Given the description of an element on the screen output the (x, y) to click on. 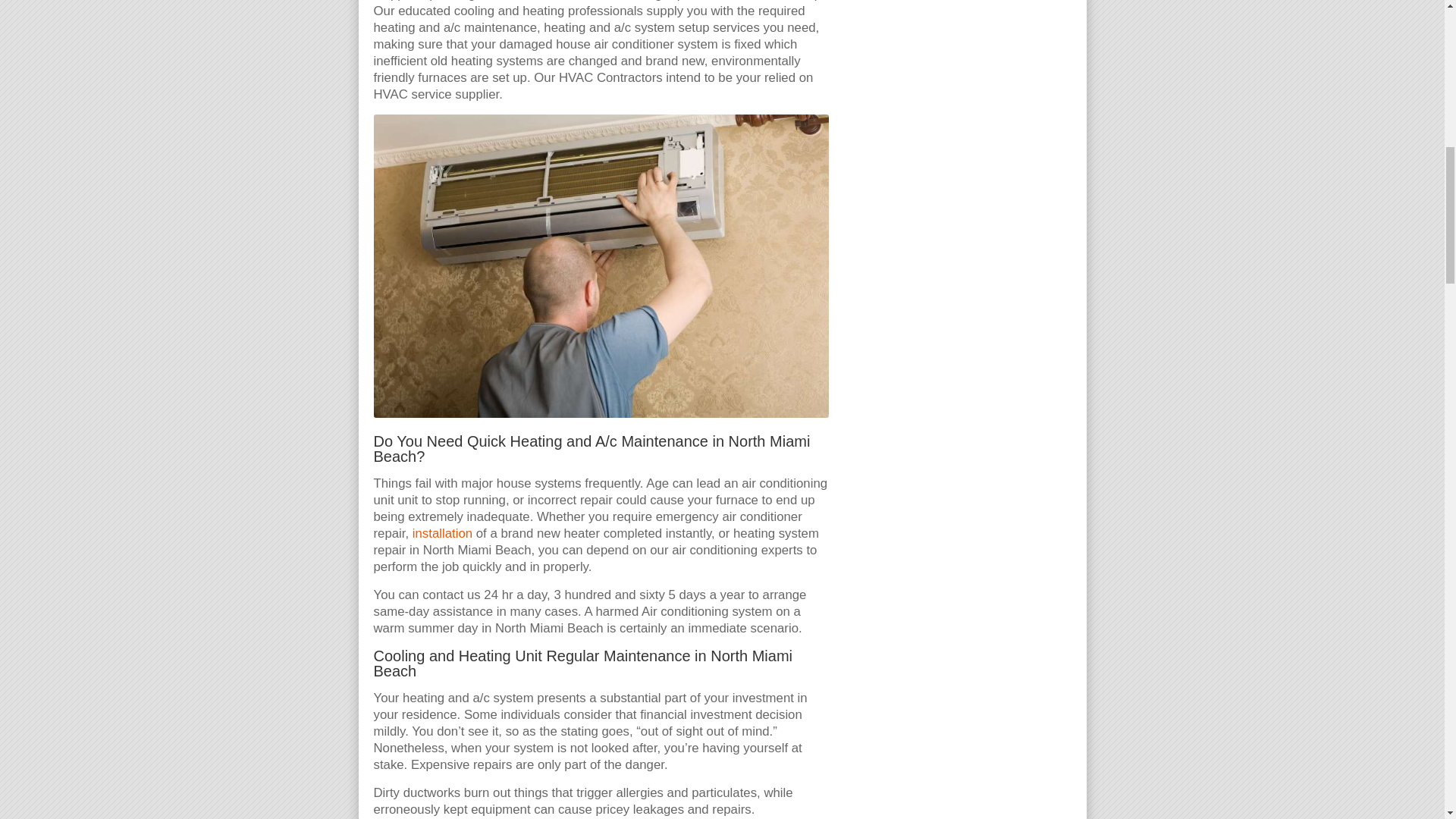
installation (441, 533)
